Given the description of an element on the screen output the (x, y) to click on. 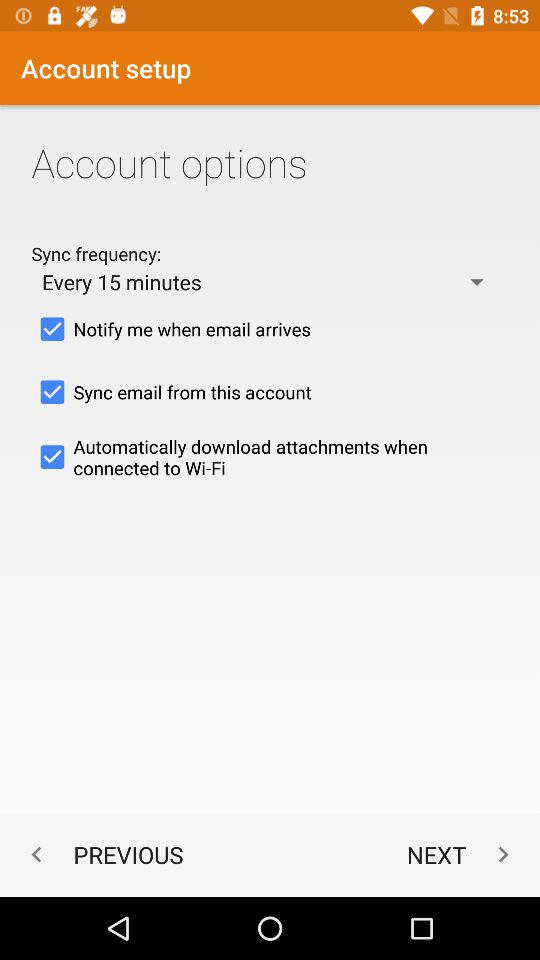
press checkbox above sync email from checkbox (269, 329)
